Given the description of an element on the screen output the (x, y) to click on. 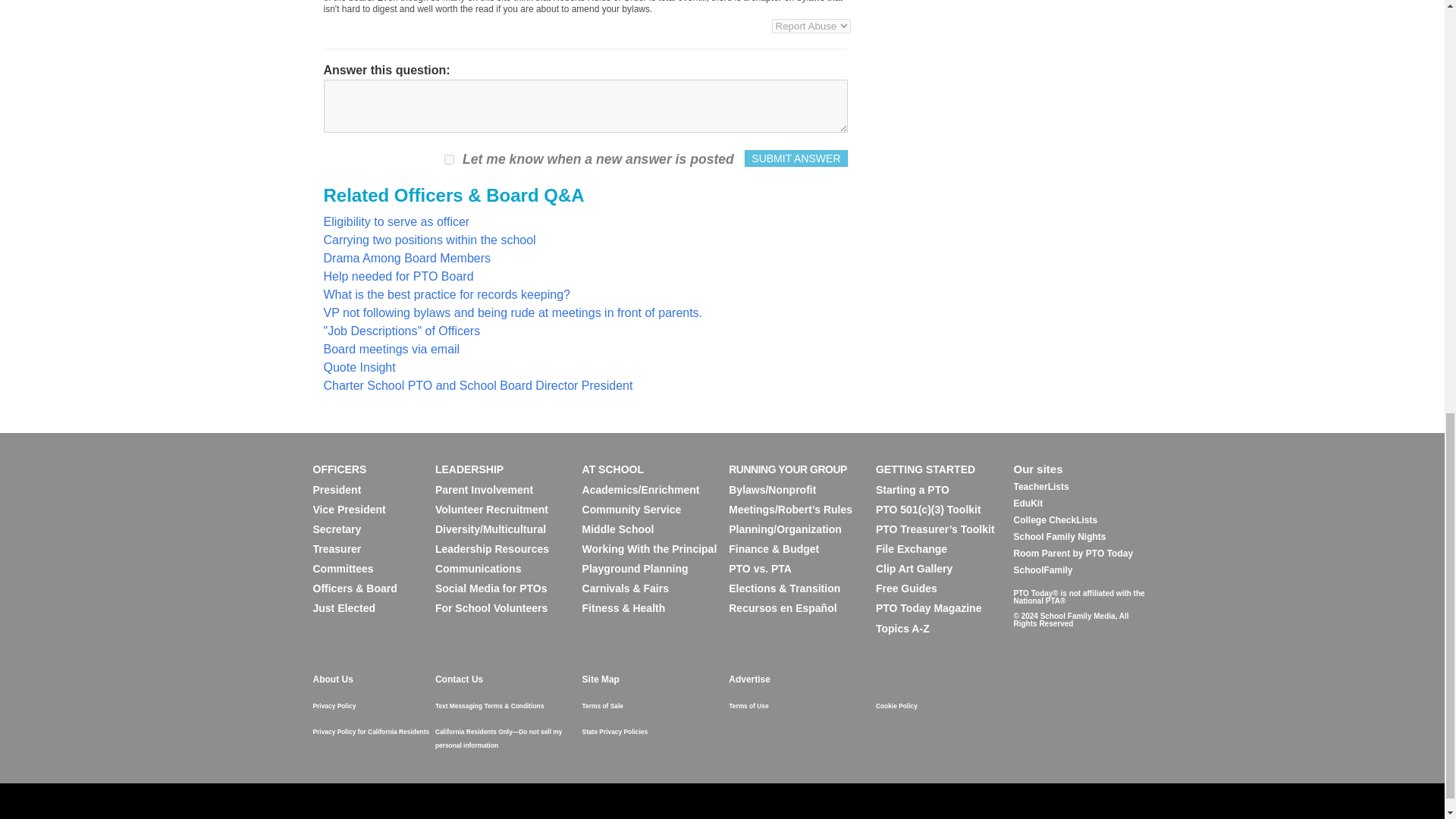
1 (449, 159)
SUBMIT ANSWER (795, 158)
